Given the description of an element on the screen output the (x, y) to click on. 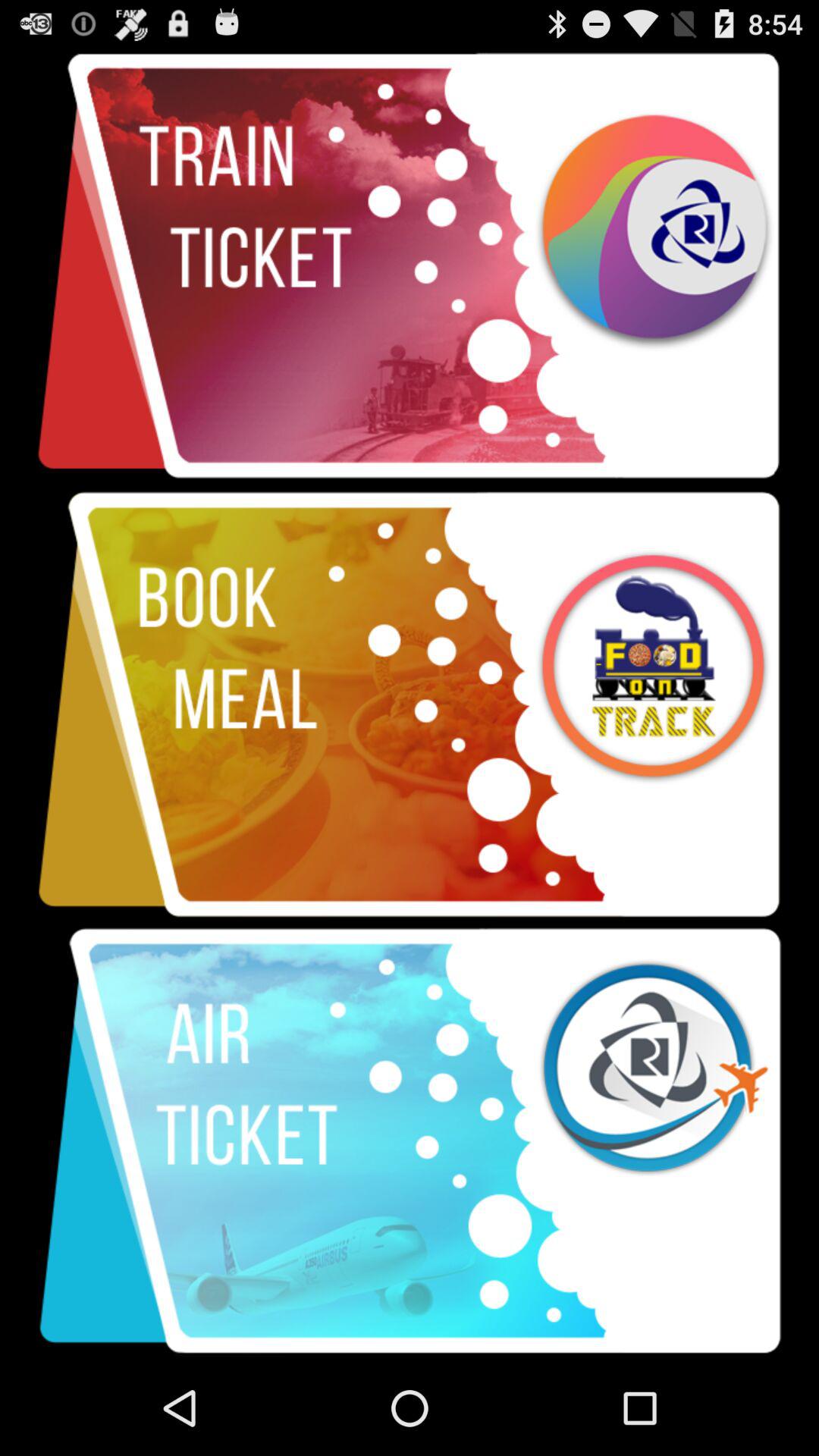
train ticket (409, 266)
